Given the description of an element on the screen output the (x, y) to click on. 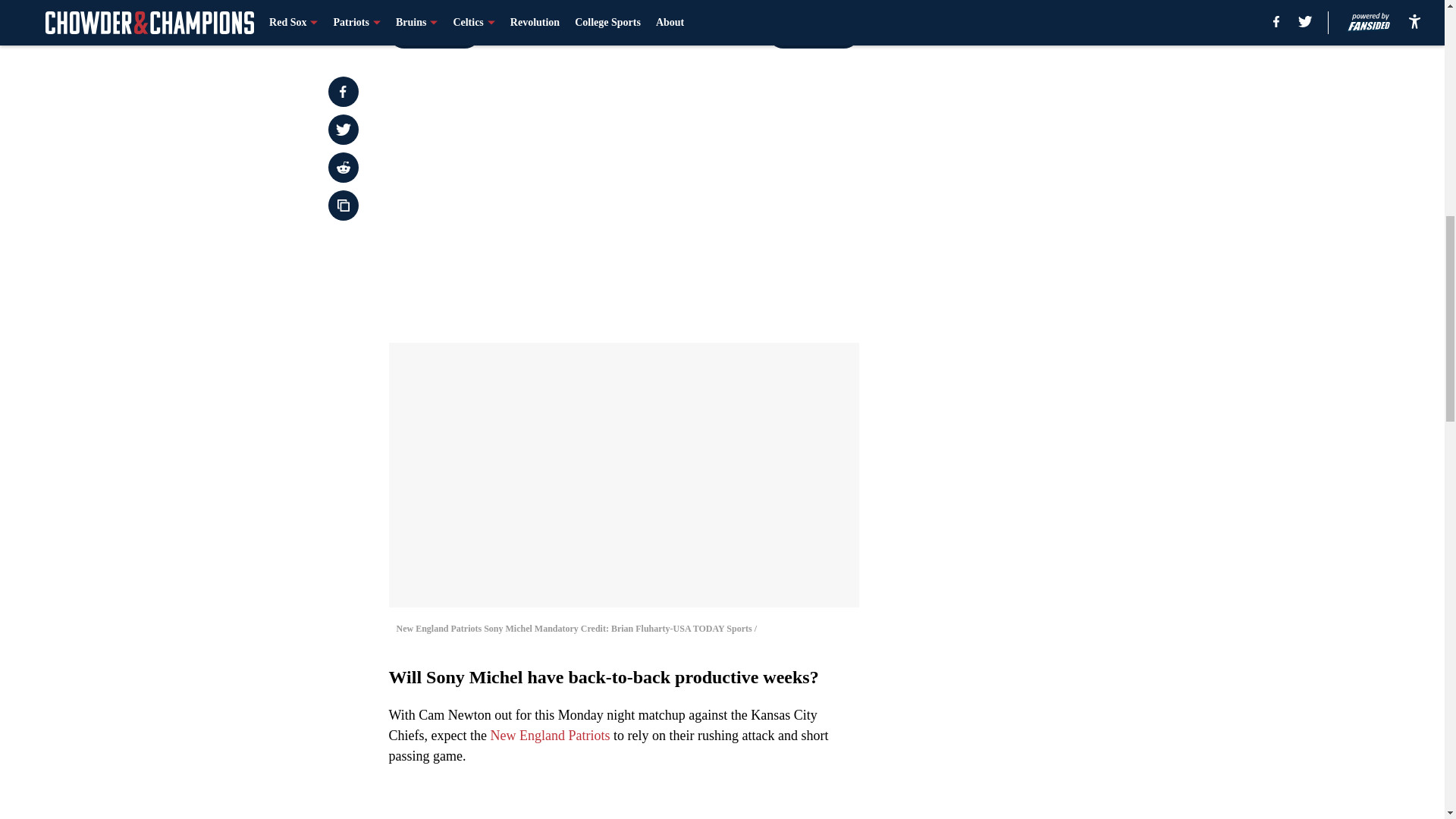
New England Patriots (549, 735)
Prev (433, 33)
Next (813, 33)
